Given the description of an element on the screen output the (x, y) to click on. 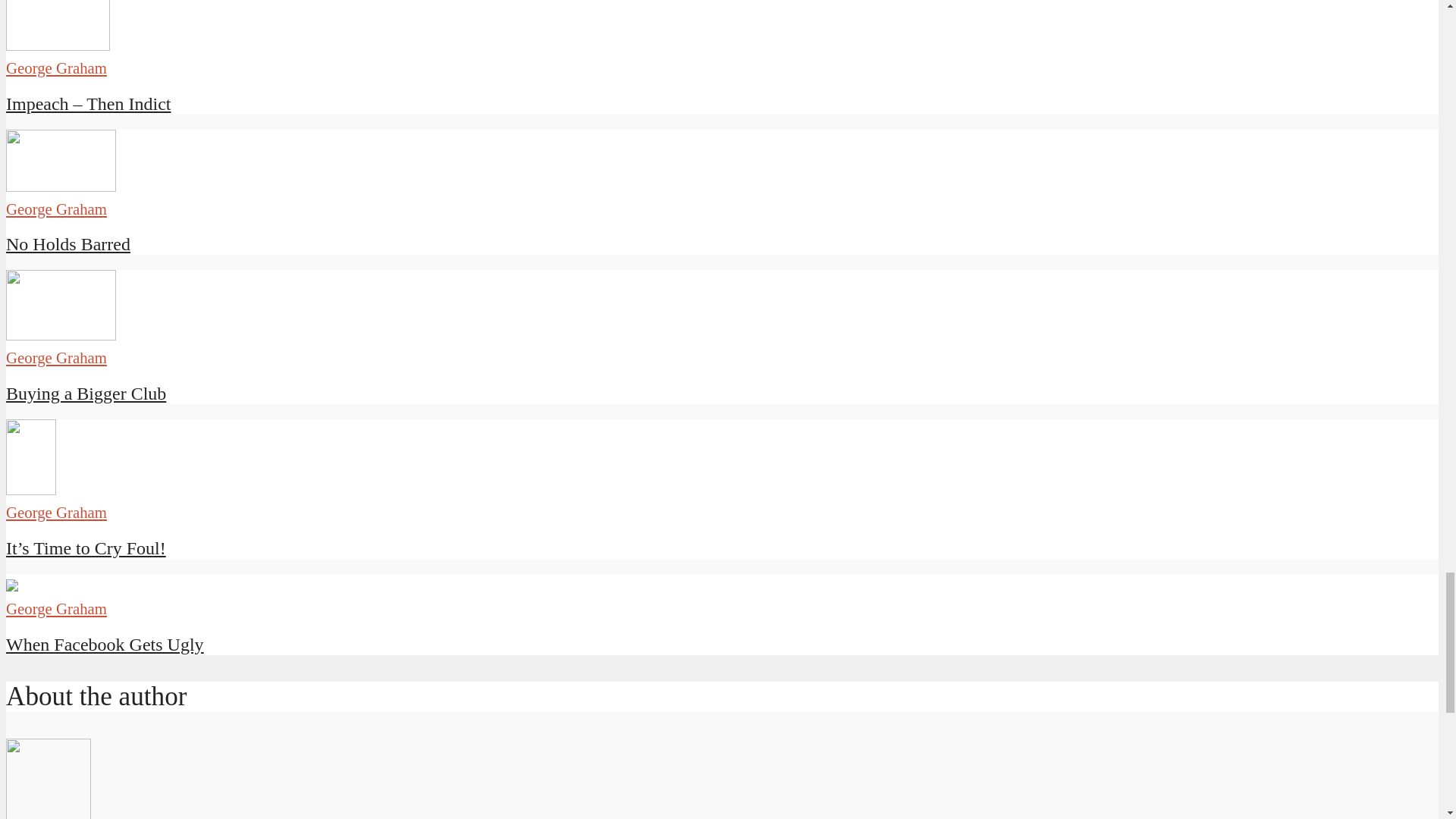
George Graham (55, 208)
Buying a Bigger Club (85, 393)
No Holds Barred (68, 243)
No Holds Barred (68, 243)
No Holds Barred (60, 185)
George Graham (55, 67)
George Graham (55, 357)
Buying a Bigger Club (60, 333)
Buying a Bigger Club (85, 393)
When Facebook Gets Ugly (104, 644)
When Facebook Gets Ugly (11, 585)
